Given the description of an element on the screen output the (x, y) to click on. 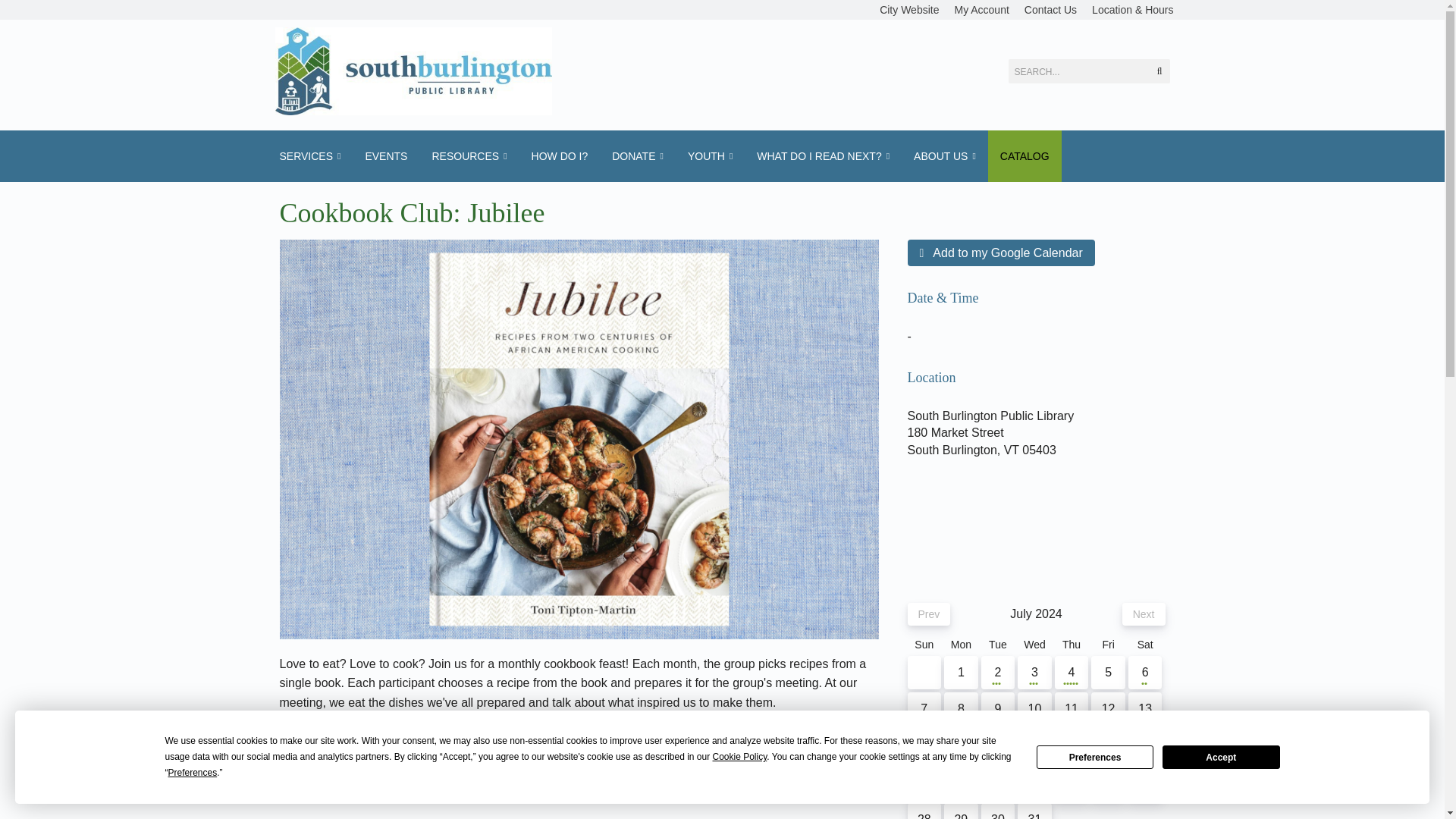
Return Home (413, 71)
Accept (1220, 757)
Preferences (1094, 757)
